Given the description of an element on the screen output the (x, y) to click on. 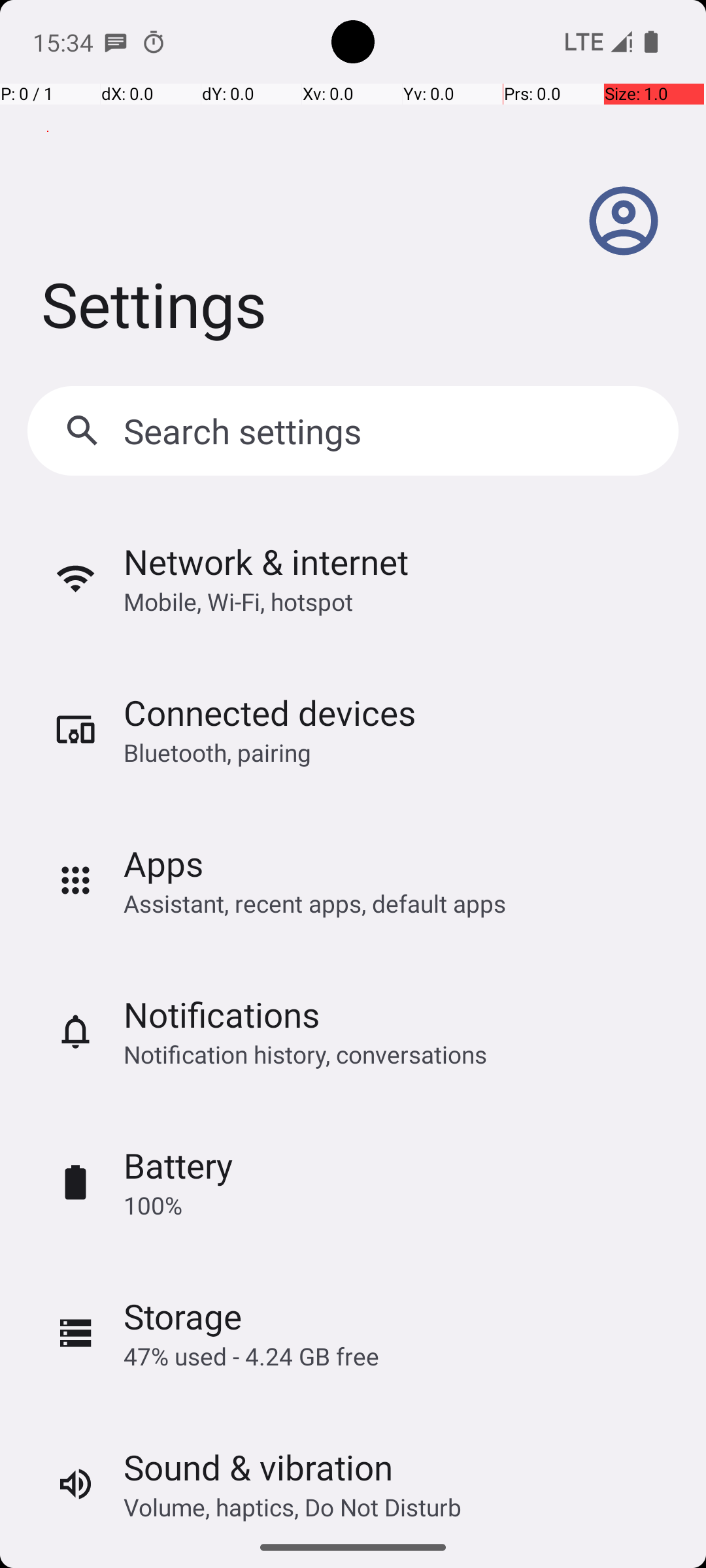
47% used - 4.24 GB free Element type: android.widget.TextView (251, 1355)
